Given the description of an element on the screen output the (x, y) to click on. 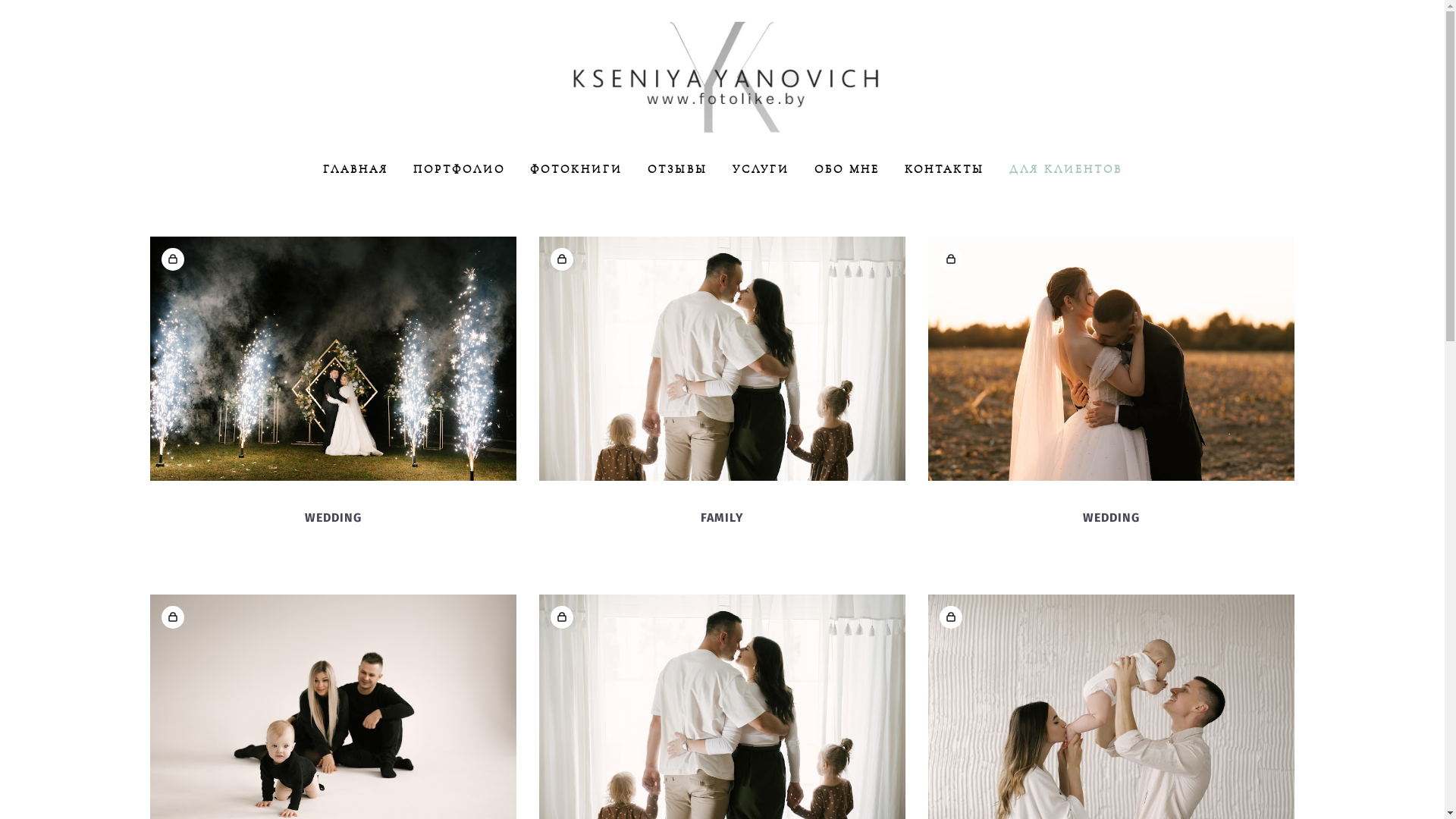
WEDDING Element type: text (1110, 517)
FAMILY Element type: text (721, 517)
WEDDING Element type: text (332, 517)
